Given the description of an element on the screen output the (x, y) to click on. 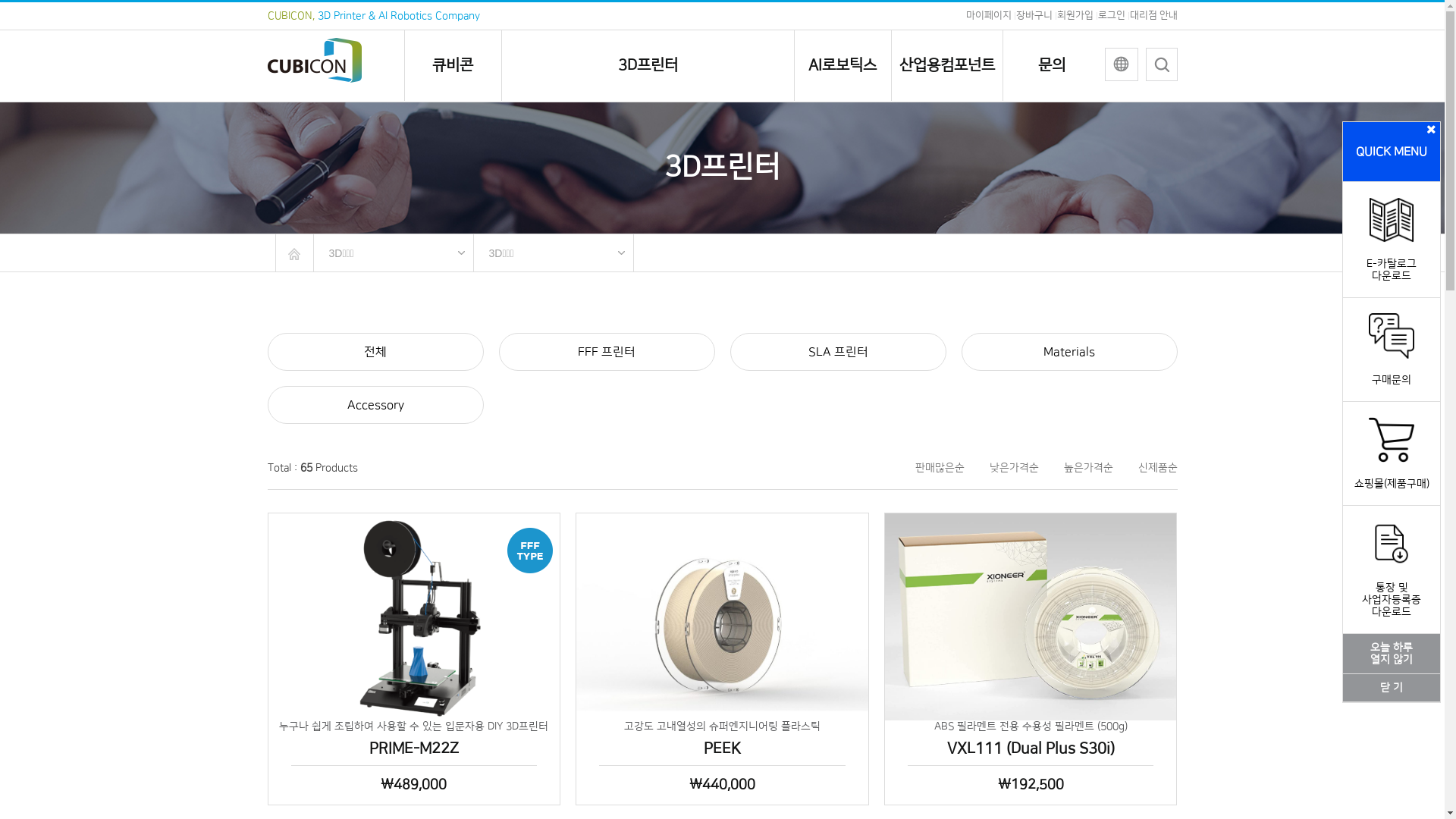
Materials Element type: text (1069, 351)
Accessory Element type: text (374, 404)
